Given the description of an element on the screen output the (x, y) to click on. 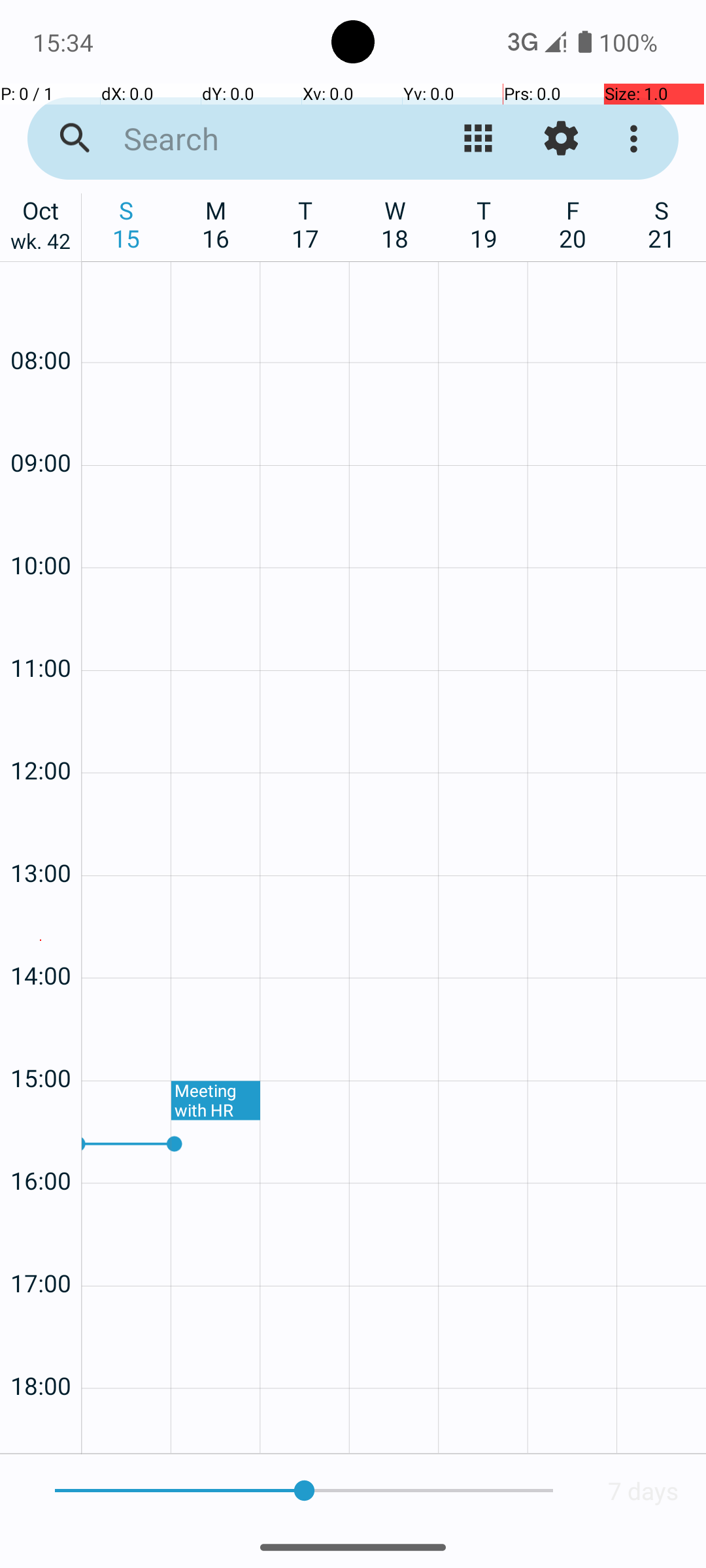
wk. 42 Element type: android.widget.TextView (40, 243)
7 days Element type: android.widget.TextView (642, 1490)
08:00 Element type: android.widget.TextView (40, 324)
09:00 Element type: android.widget.TextView (40, 427)
10:00 Element type: android.widget.TextView (40, 529)
11:00 Element type: android.widget.TextView (40, 632)
12:00 Element type: android.widget.TextView (40, 735)
13:00 Element type: android.widget.TextView (40, 837)
14:00 Element type: android.widget.TextView (40, 940)
15:00 Element type: android.widget.TextView (40, 1042)
16:00 Element type: android.widget.TextView (40, 1145)
17:00 Element type: android.widget.TextView (40, 1247)
18:00 Element type: android.widget.TextView (40, 1350)
19:00 Element type: android.widget.TextView (40, 1428)
S
15 Element type: android.widget.TextView (126, 223)
M
16 Element type: android.widget.TextView (215, 223)
T
17 Element type: android.widget.TextView (305, 223)
W
18 Element type: android.widget.TextView (394, 223)
T
19 Element type: android.widget.TextView (483, 223)
F
20 Element type: android.widget.TextView (572, 223)
S
21 Element type: android.widget.TextView (661, 223)
Meeting with HR Element type: android.widget.TextView (215, 1100)
